Given the description of an element on the screen output the (x, y) to click on. 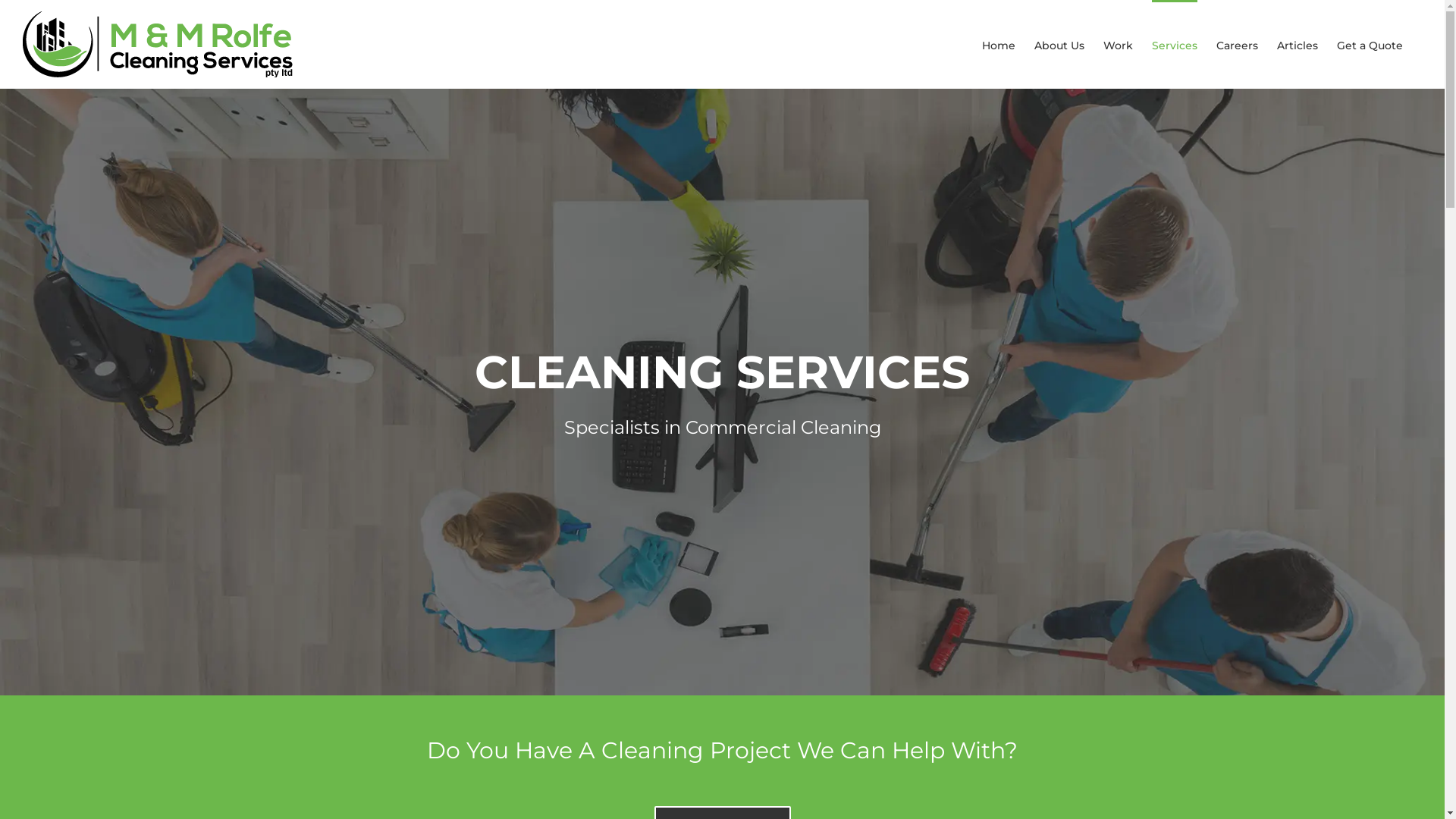
Work Element type: text (1117, 44)
Careers Element type: text (1237, 44)
Articles Element type: text (1297, 44)
Home Element type: text (998, 44)
About Us Element type: text (1059, 44)
Services Element type: text (1174, 44)
Get a Quote Element type: text (1369, 44)
